Given the description of an element on the screen output the (x, y) to click on. 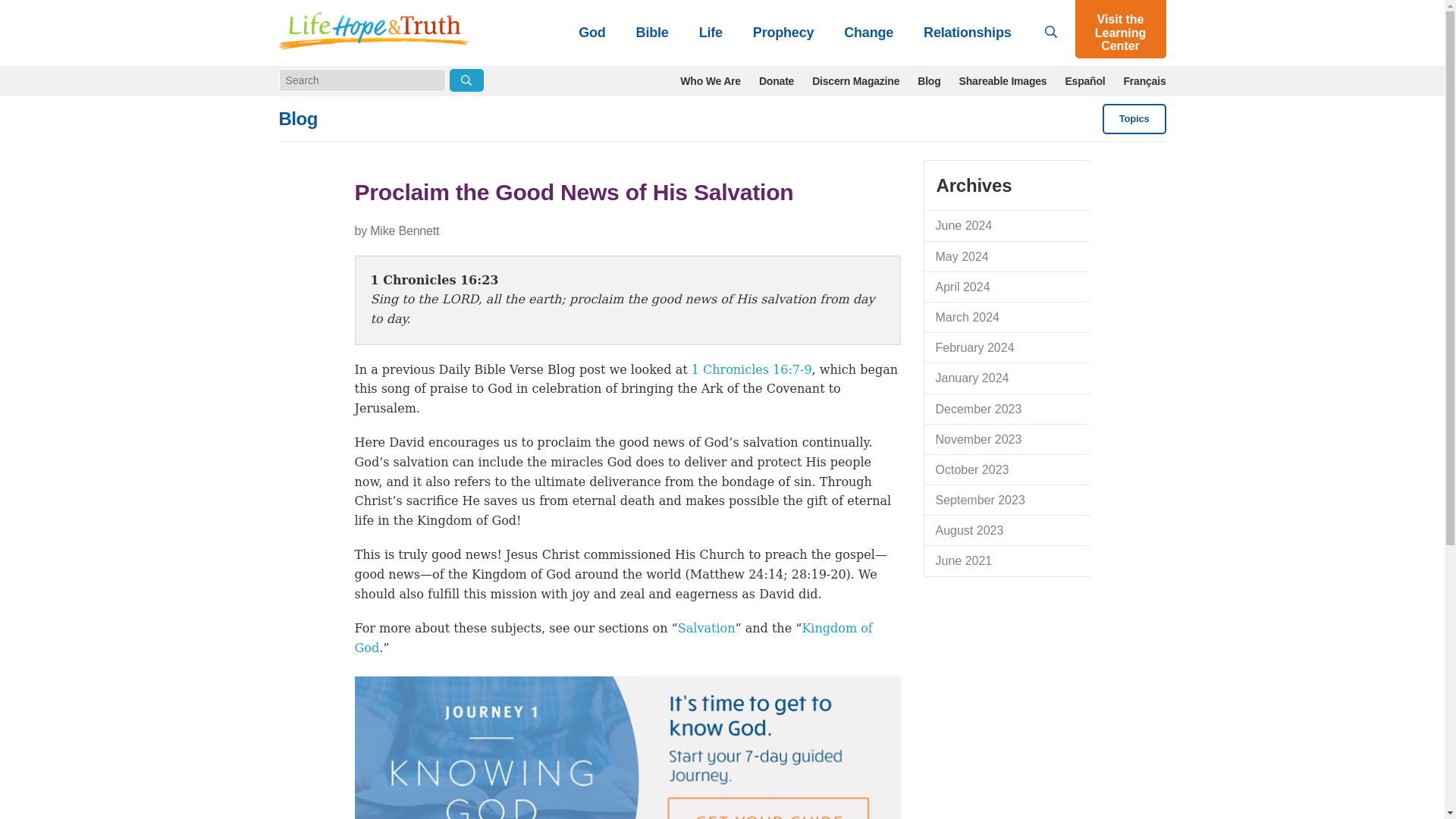
God (591, 32)
Bible (652, 32)
Life (711, 32)
